Given the description of an element on the screen output the (x, y) to click on. 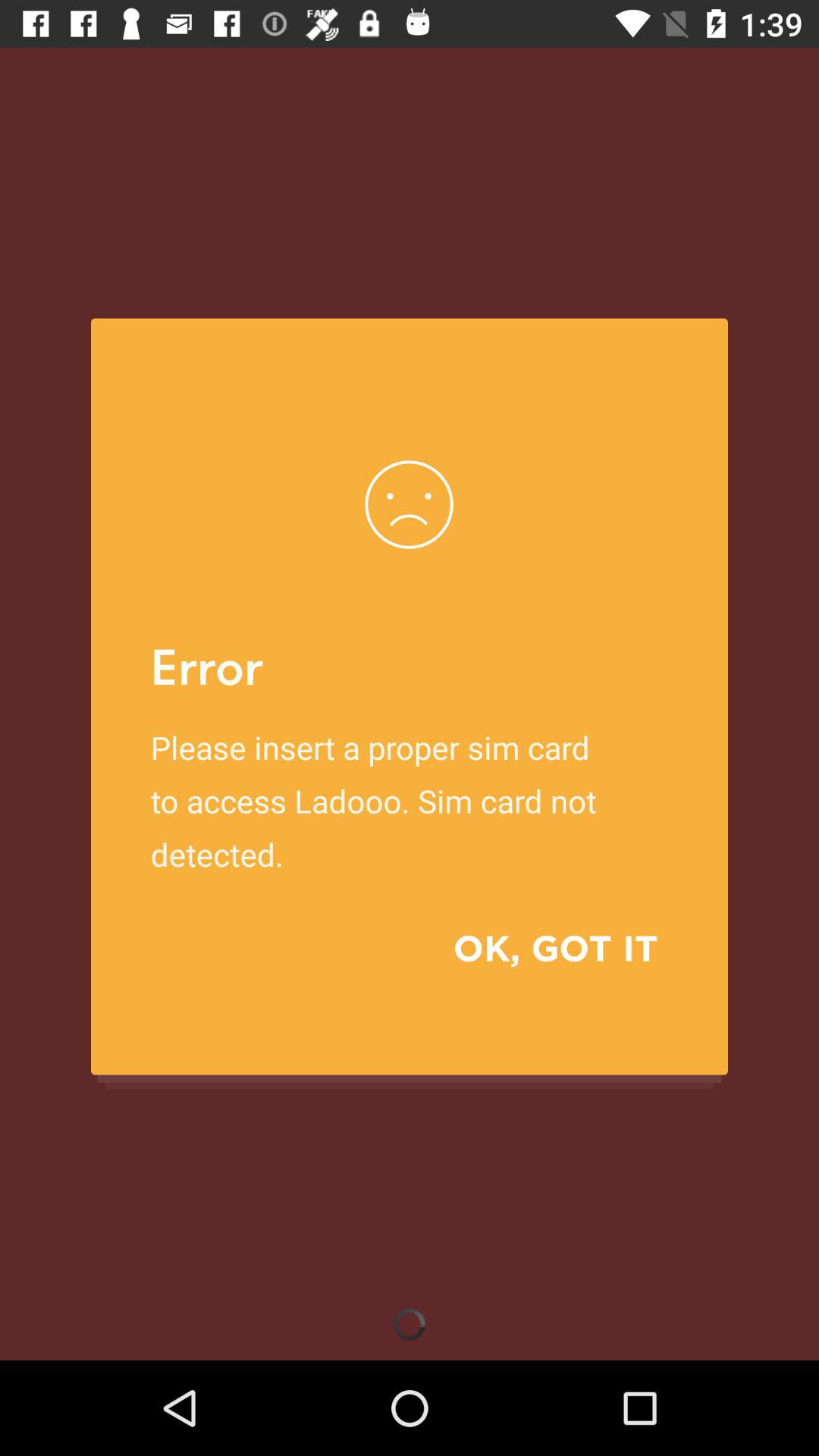
launch the icon below the please insert a (533, 947)
